Given the description of an element on the screen output the (x, y) to click on. 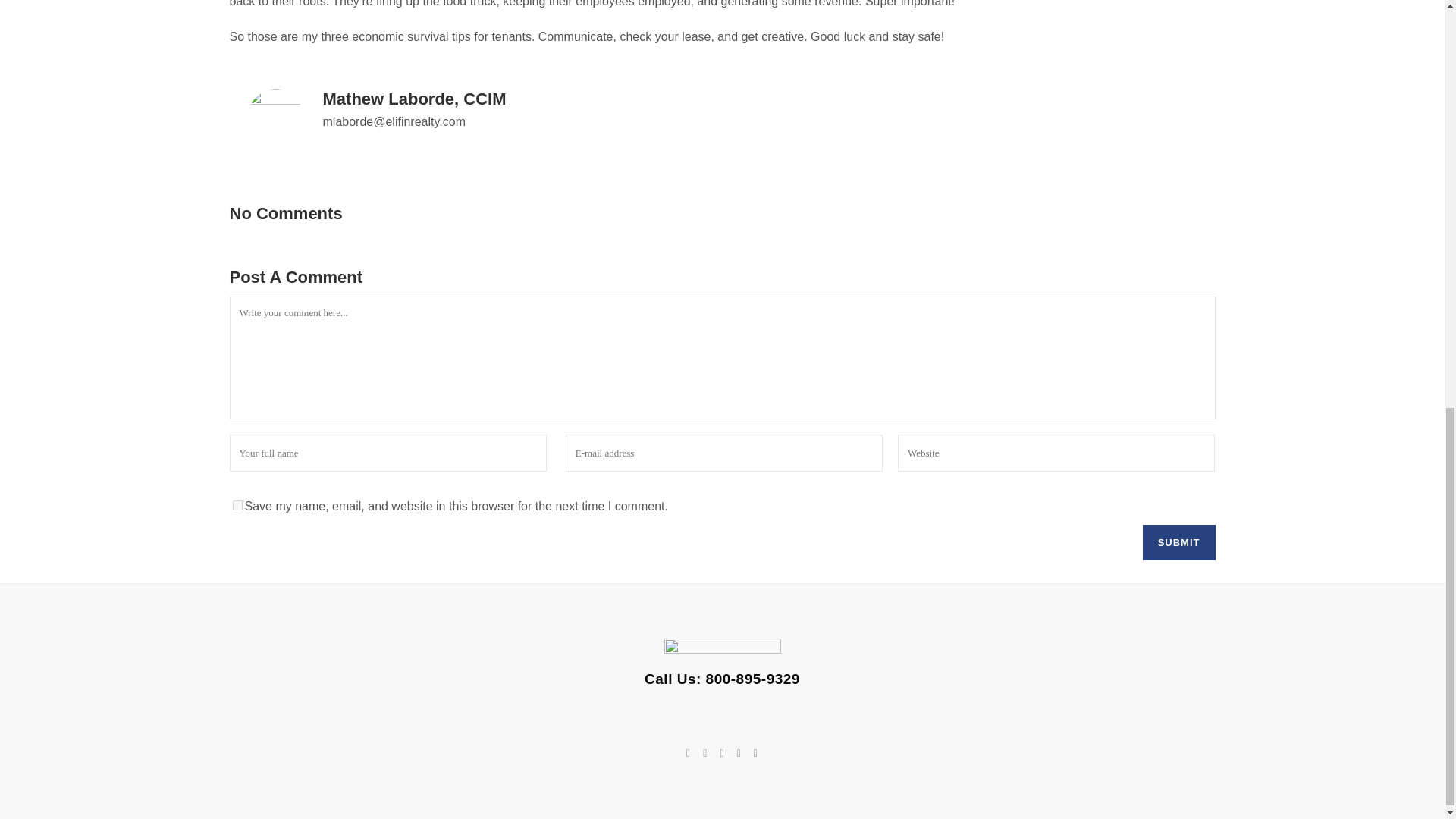
Submit (1178, 542)
Submit (1178, 542)
yes (236, 505)
